Given the description of an element on the screen output the (x, y) to click on. 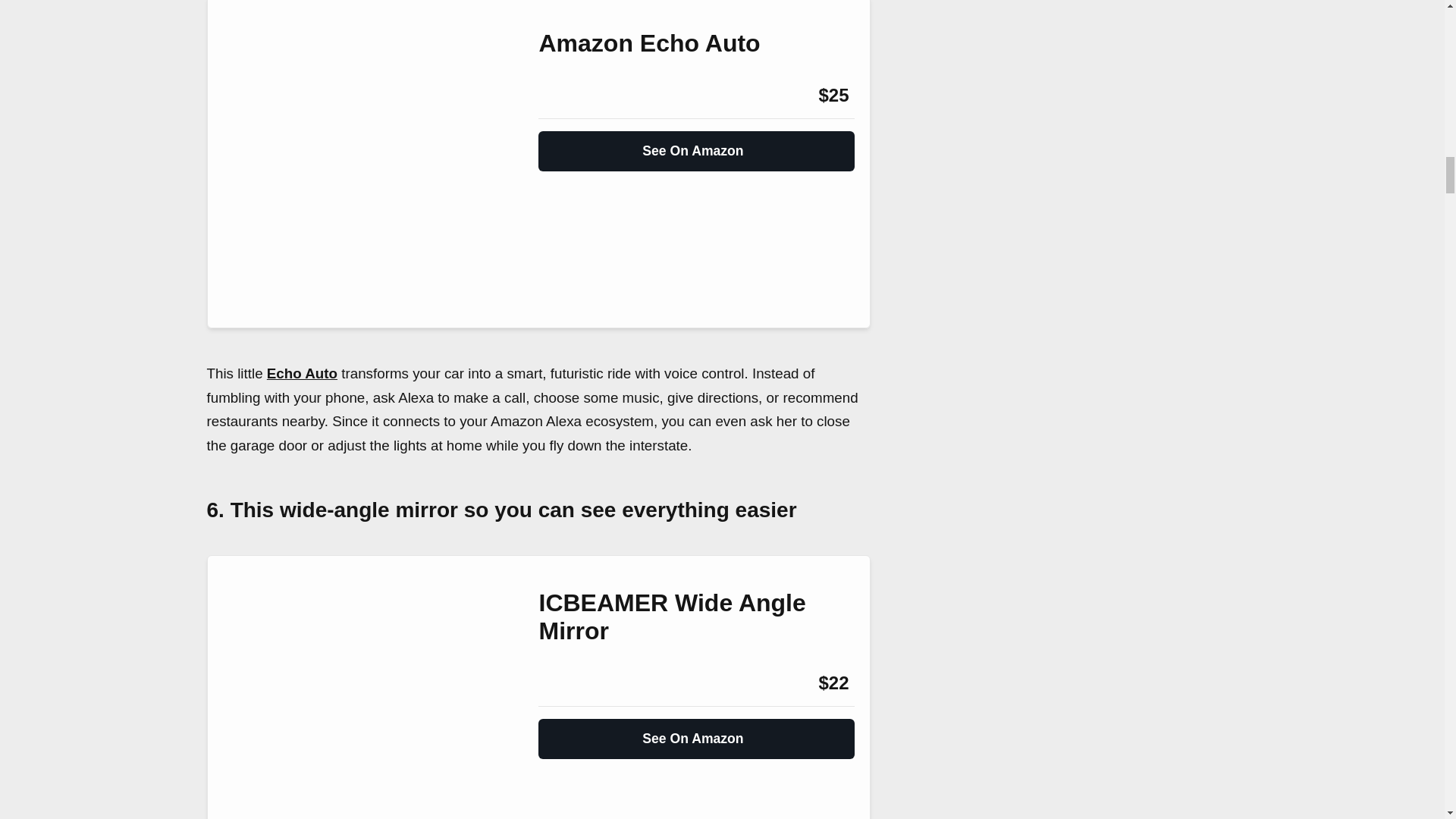
Amazon (579, 683)
Echo Auto (301, 373)
See On Amazon (696, 144)
Amazon (579, 95)
See On Amazon (696, 732)
